Given the description of an element on the screen output the (x, y) to click on. 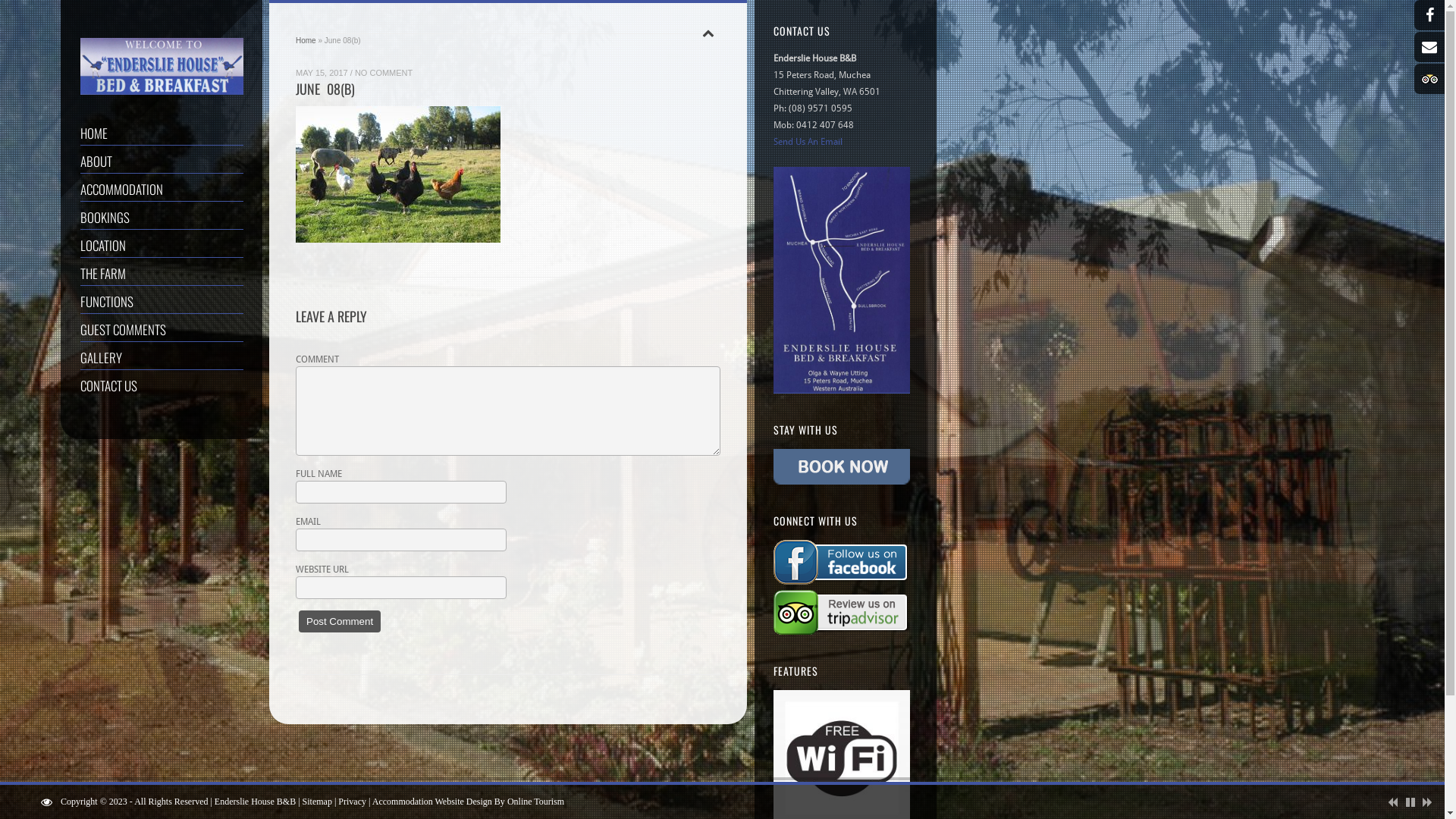
Online Tourism Element type: text (535, 801)
LOCATION Element type: text (161, 244)
Privacy Element type: text (352, 801)
Home Element type: text (305, 40)
ABOUT Element type: text (161, 160)
ACCOMMODATION Element type: text (161, 188)
GALLERY Element type: text (161, 357)
Accommodation Website Design Element type: text (432, 801)
Sitemap Element type: text (317, 801)
BOOKINGS Element type: text (161, 216)
THE FARM Element type: text (161, 272)
GUEST COMMENTS Element type: text (161, 329)
Tripadvisor Element type: text (1429, 78)
JUNE 08(B) Element type: text (324, 91)
NO COMMENT Element type: text (383, 70)
Post Comment Element type: text (339, 621)
Enderslie House B&B Element type: text (254, 801)
CONTACT US Element type: text (161, 385)
HOME Element type: text (161, 132)
Send Us An Email Element type: text (807, 141)
FUNCTIONS Element type: text (161, 300)
